Given the description of an element on the screen output the (x, y) to click on. 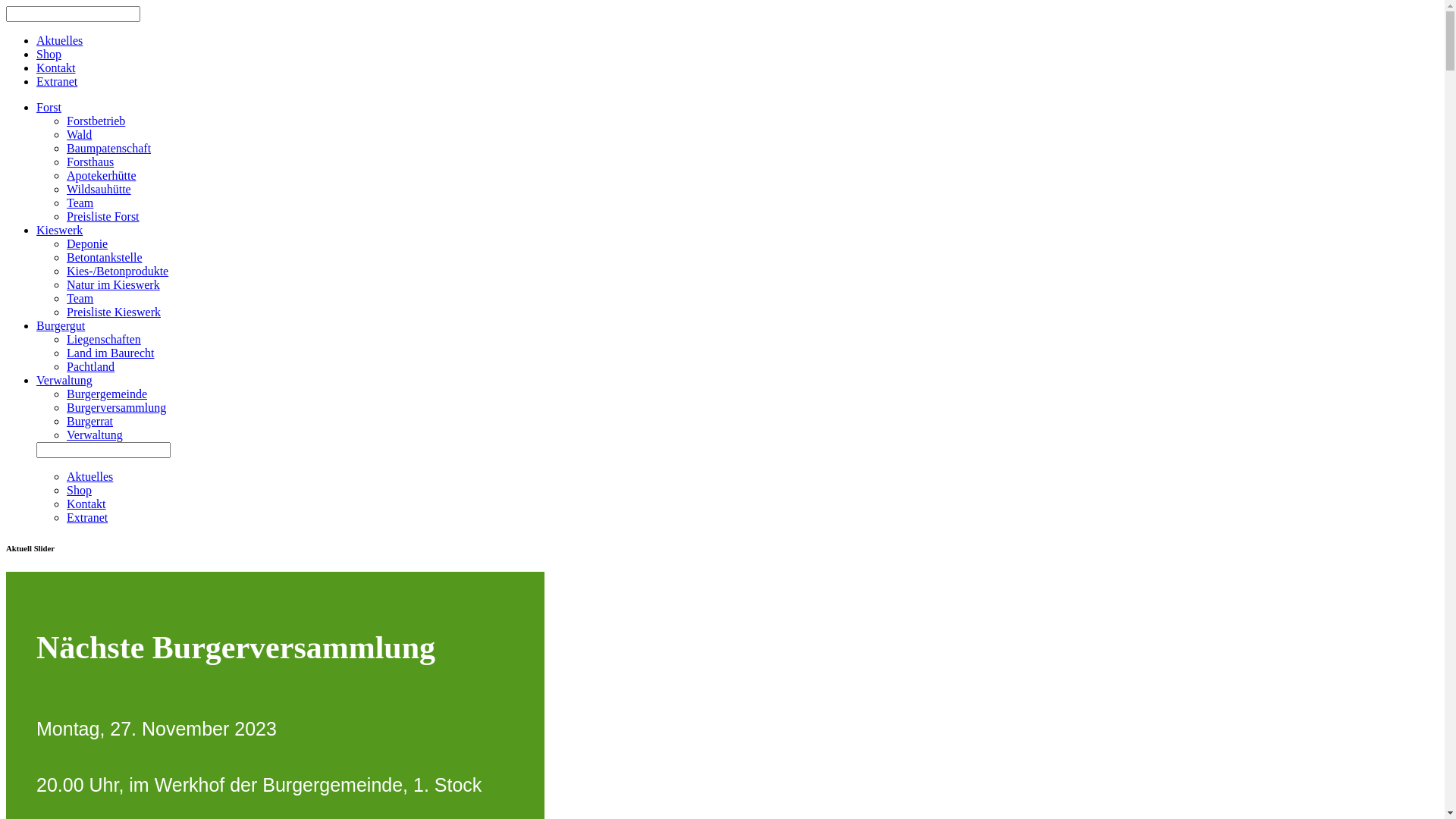
Kontakt Element type: text (55, 67)
Burgergut Element type: text (737, 325)
Land im Baurecht Element type: text (110, 352)
Preisliste Kieswerk Element type: text (113, 311)
Natur im Kieswerk Element type: text (113, 284)
Pachtland Element type: text (90, 366)
Liegenschaften Element type: text (103, 338)
Team Element type: text (79, 202)
Verwaltung Element type: text (737, 379)
Kies-/Betonprodukte Element type: text (117, 270)
Extranet Element type: text (86, 517)
Burgerrat Element type: text (89, 420)
Team Element type: text (79, 297)
Aktuelles Element type: text (89, 476)
Kontakt Element type: text (86, 503)
Baumpatenschaft Element type: text (108, 147)
Forsthaus Element type: text (89, 161)
Burgergemeinde Element type: text (106, 393)
Betontankstelle Element type: text (104, 257)
Verwaltung Element type: text (94, 434)
Preisliste Forst Element type: text (102, 216)
Deponie Element type: text (86, 243)
Shop Element type: text (78, 489)
Forstbetrieb Element type: text (95, 120)
Aktuelles Element type: text (59, 40)
Burgerversammlung Element type: text (116, 407)
Kieswerk Element type: text (737, 229)
Extranet Element type: text (56, 81)
Wald Element type: text (78, 134)
Shop Element type: text (48, 53)
Forst Element type: text (737, 106)
